Given the description of an element on the screen output the (x, y) to click on. 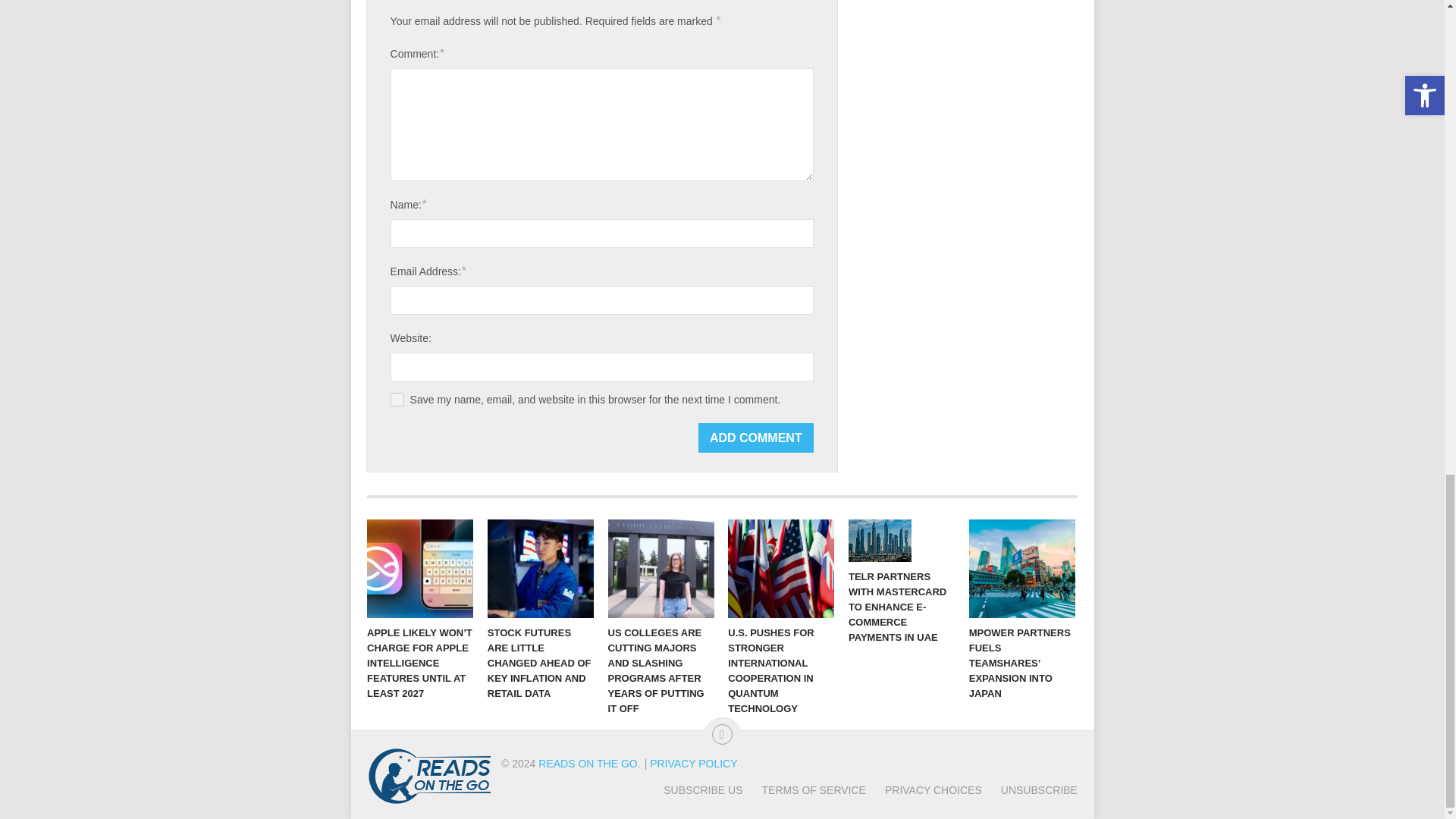
yes (397, 399)
Add Comment (755, 437)
Add Comment (755, 437)
